Given the description of an element on the screen output the (x, y) to click on. 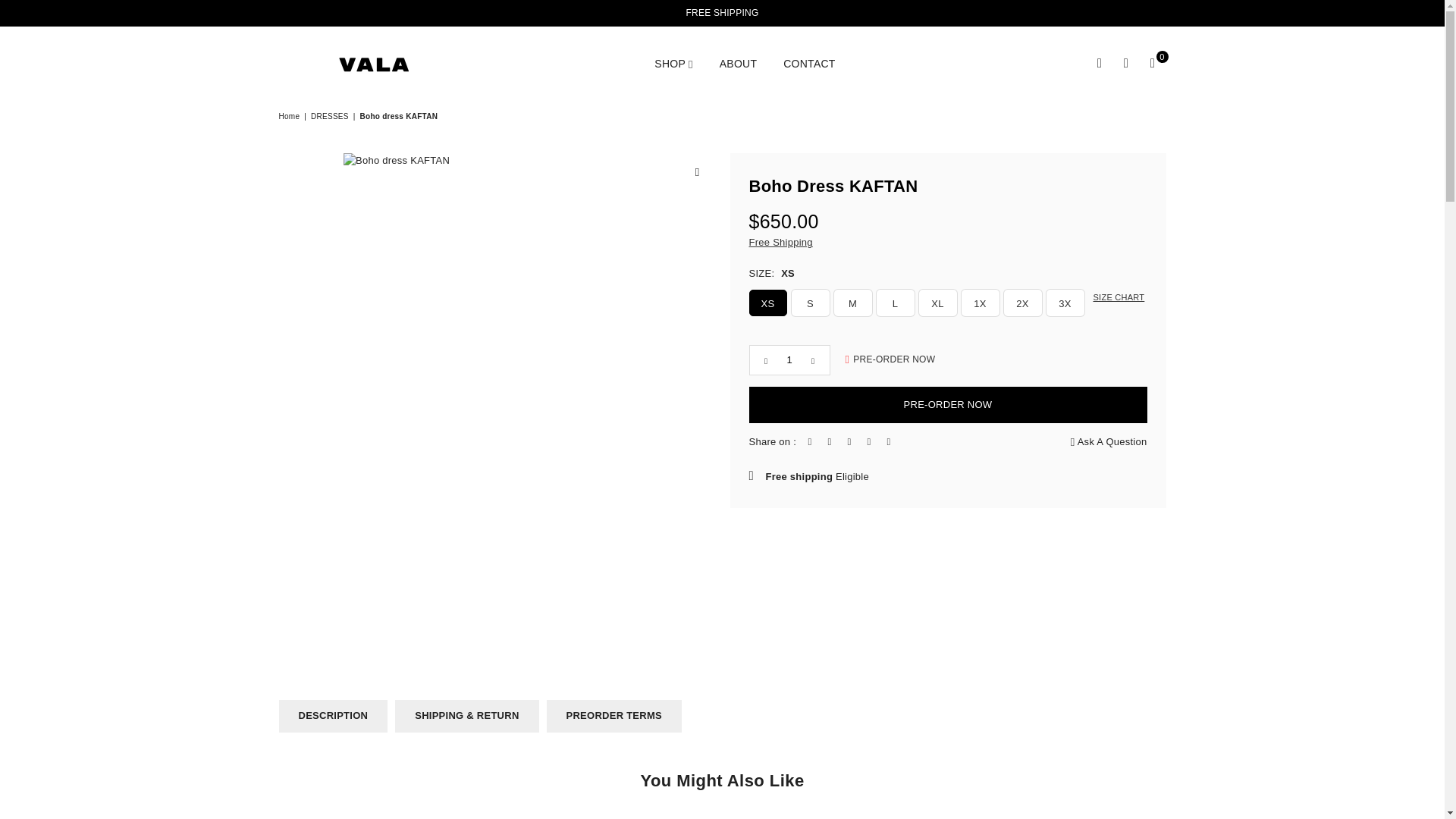
Pin on Pinterest (849, 442)
CART (1152, 64)
0 (1152, 64)
SHOP (673, 64)
1 (789, 359)
Share on Facebook (809, 442)
DRESSES (330, 116)
VALA (373, 64)
Share by Email (888, 442)
Share on Linkedin (869, 442)
